Given the description of an element on the screen output the (x, y) to click on. 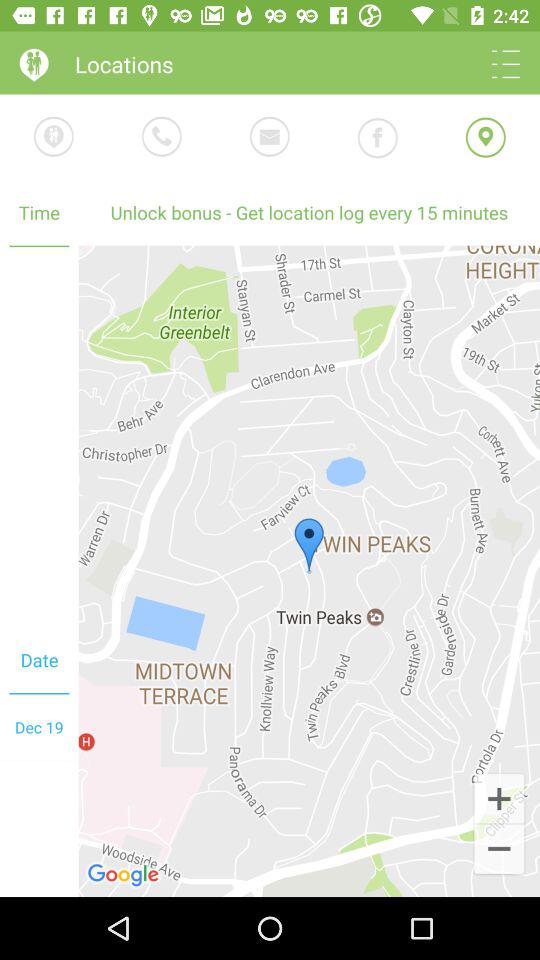
press the item below the unlock bonus get item (498, 797)
